Given the description of an element on the screen output the (x, y) to click on. 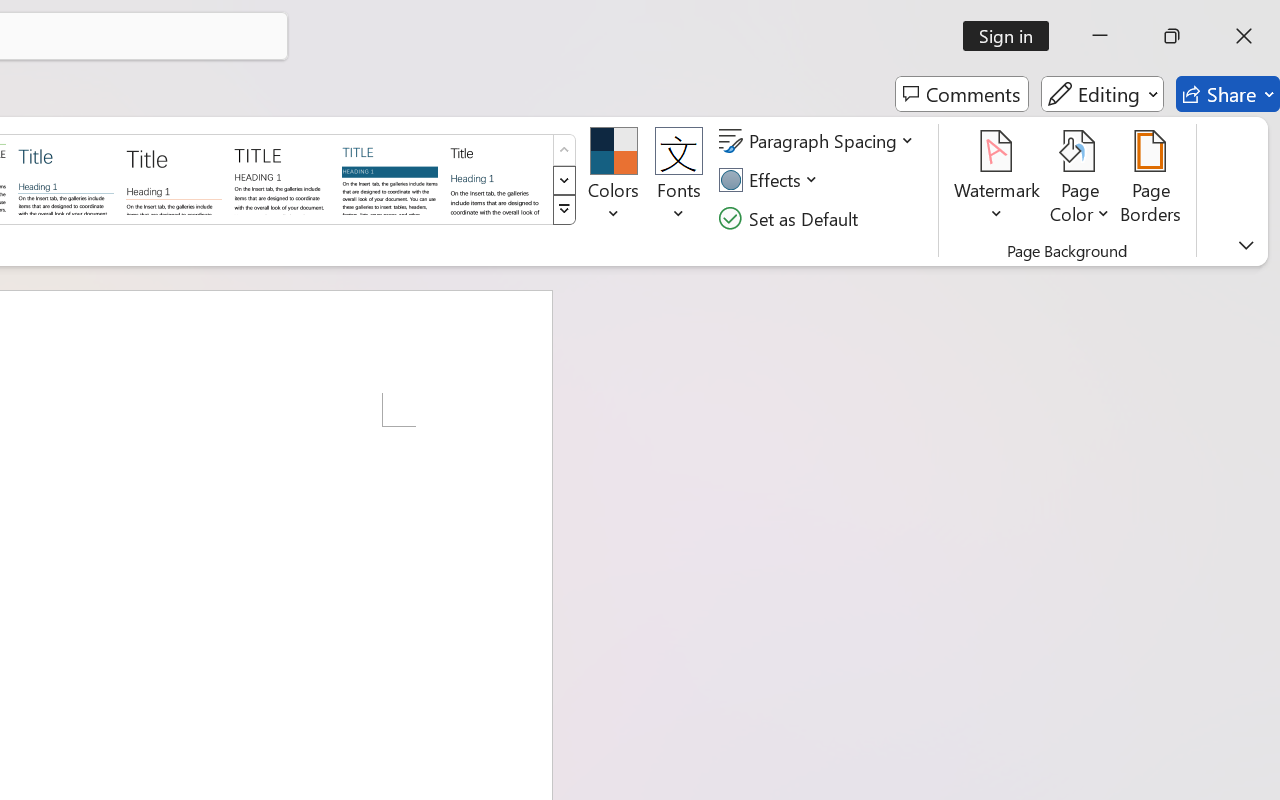
Word (497, 178)
Minimalist (281, 178)
Sign in (1012, 35)
Lines (Simple) (65, 178)
Style Set (564, 209)
Effects (771, 179)
Page Color (1080, 179)
